Given the description of an element on the screen output the (x, y) to click on. 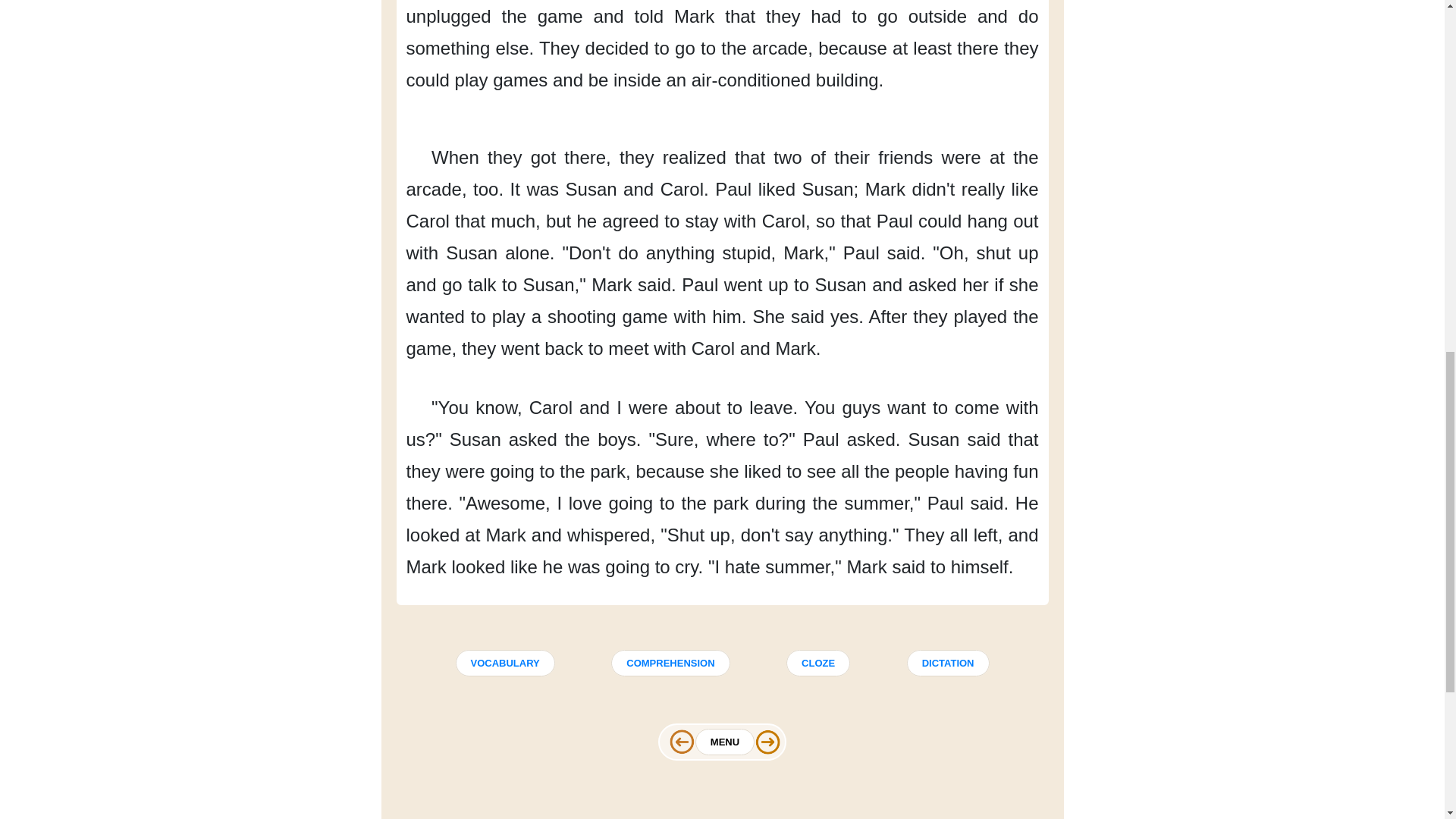
VOCABULARY (504, 662)
DICTATION (948, 662)
MENU (724, 741)
CLOZE (818, 662)
COMPREHENSION (670, 662)
